Given the description of an element on the screen output the (x, y) to click on. 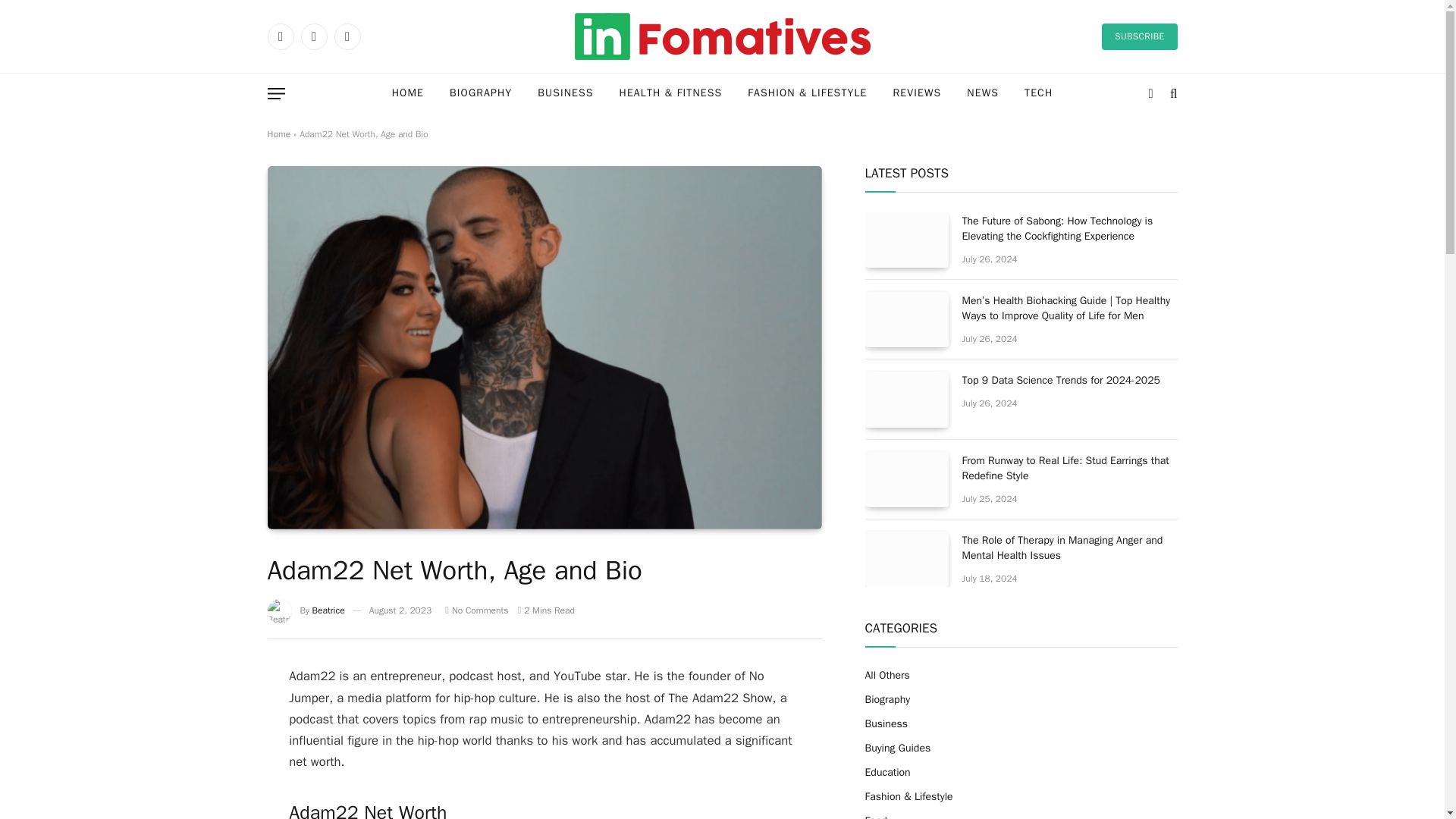
Facebook (280, 35)
TECH (1038, 93)
NEWS (982, 93)
HOME (407, 93)
SUBSCRIBE (1139, 35)
Beatrice (329, 610)
Posts by Beatrice (329, 610)
Instagram (346, 35)
Switch to Dark Design - easier on eyes. (1150, 92)
Search (1171, 93)
No Comments (476, 610)
BUSINESS (564, 93)
REVIEWS (917, 93)
Infomatives (721, 36)
